Given the description of an element on the screen output the (x, y) to click on. 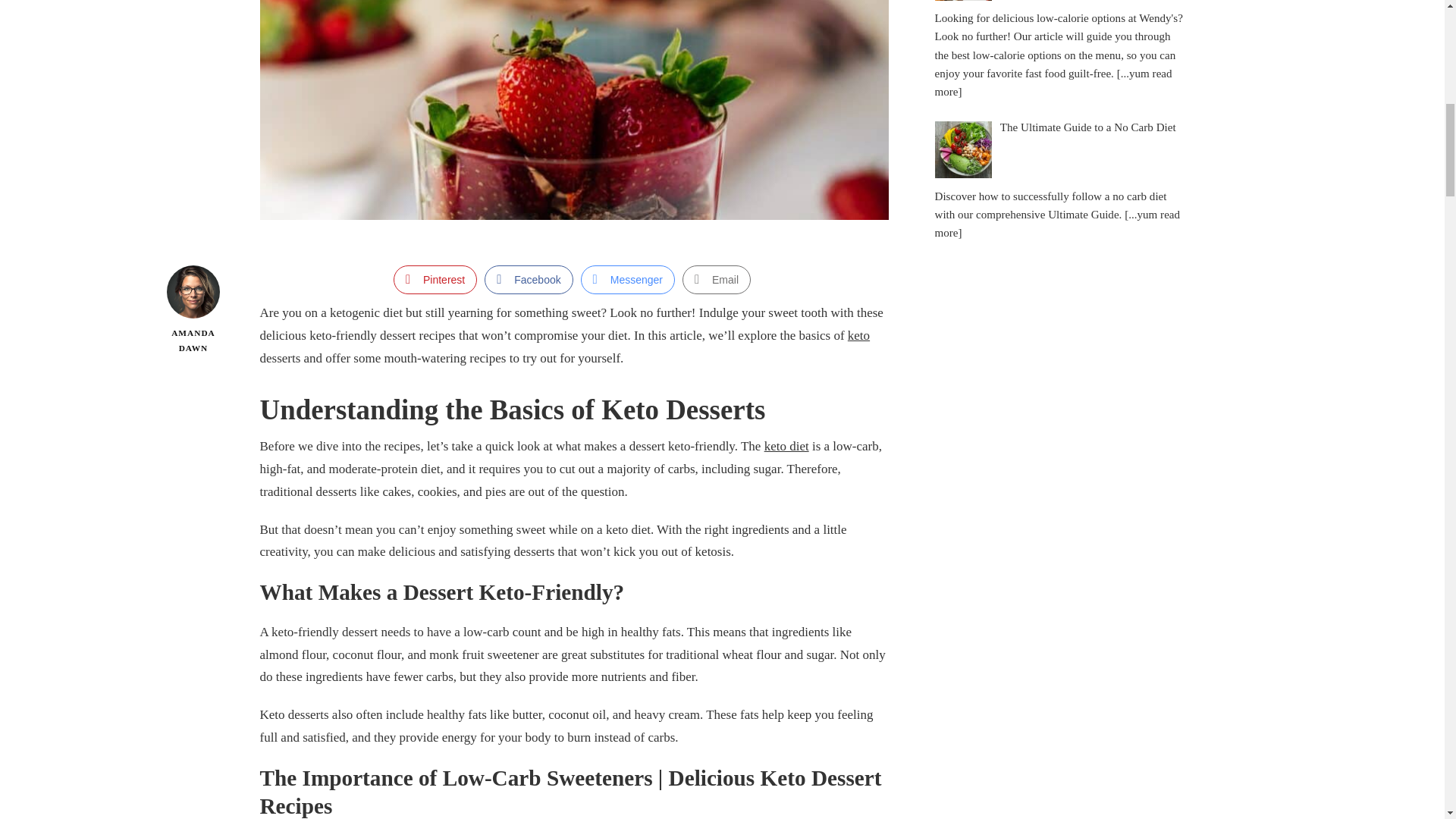
Facebook (528, 279)
Email (716, 279)
Pinterest (435, 279)
Messenger (627, 279)
